Given the description of an element on the screen output the (x, y) to click on. 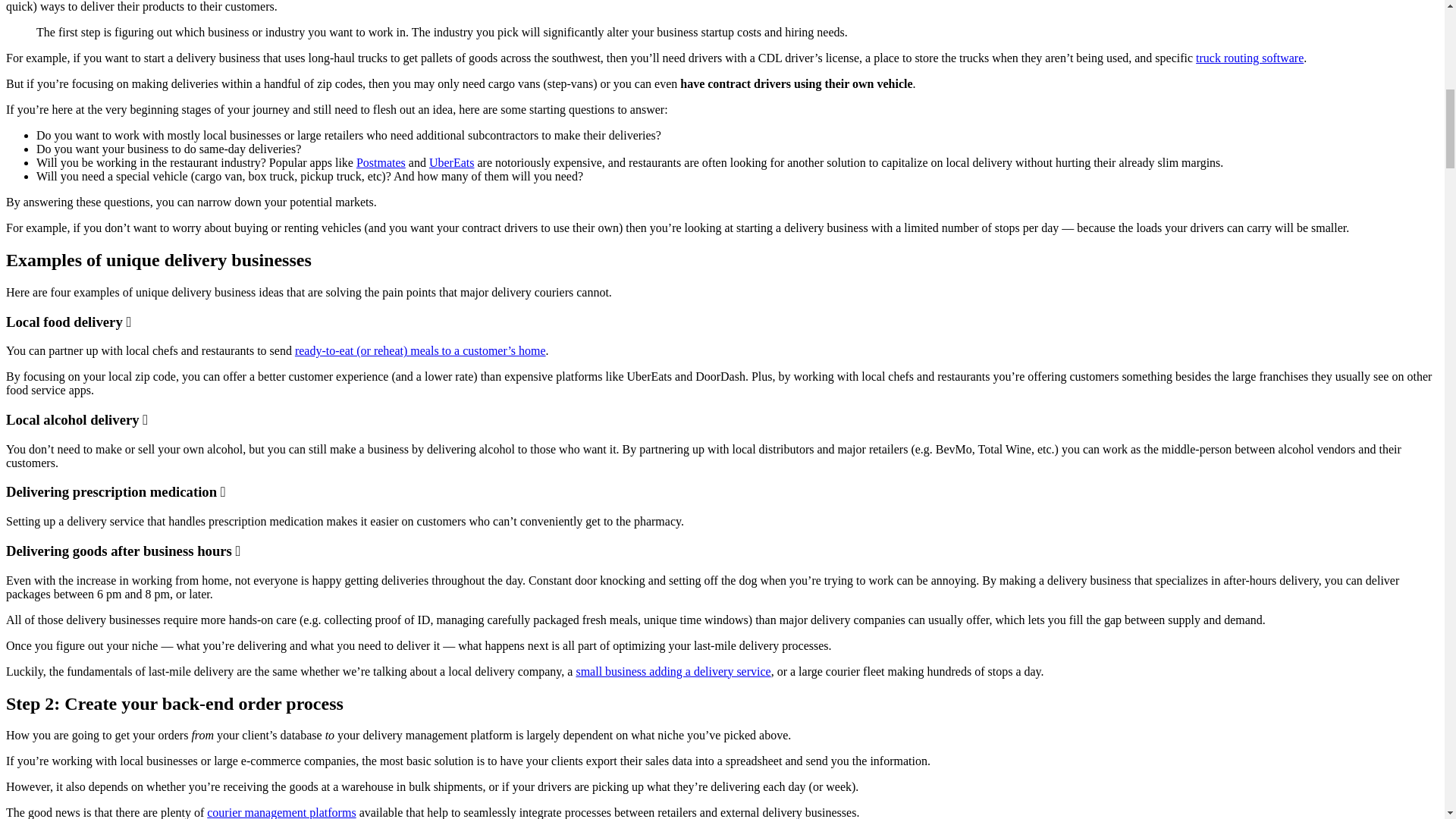
UberEats (451, 162)
Postmates (381, 162)
small business adding a delivery service (672, 671)
courier management platforms (280, 812)
truck routing software (1249, 57)
